Given the description of an element on the screen output the (x, y) to click on. 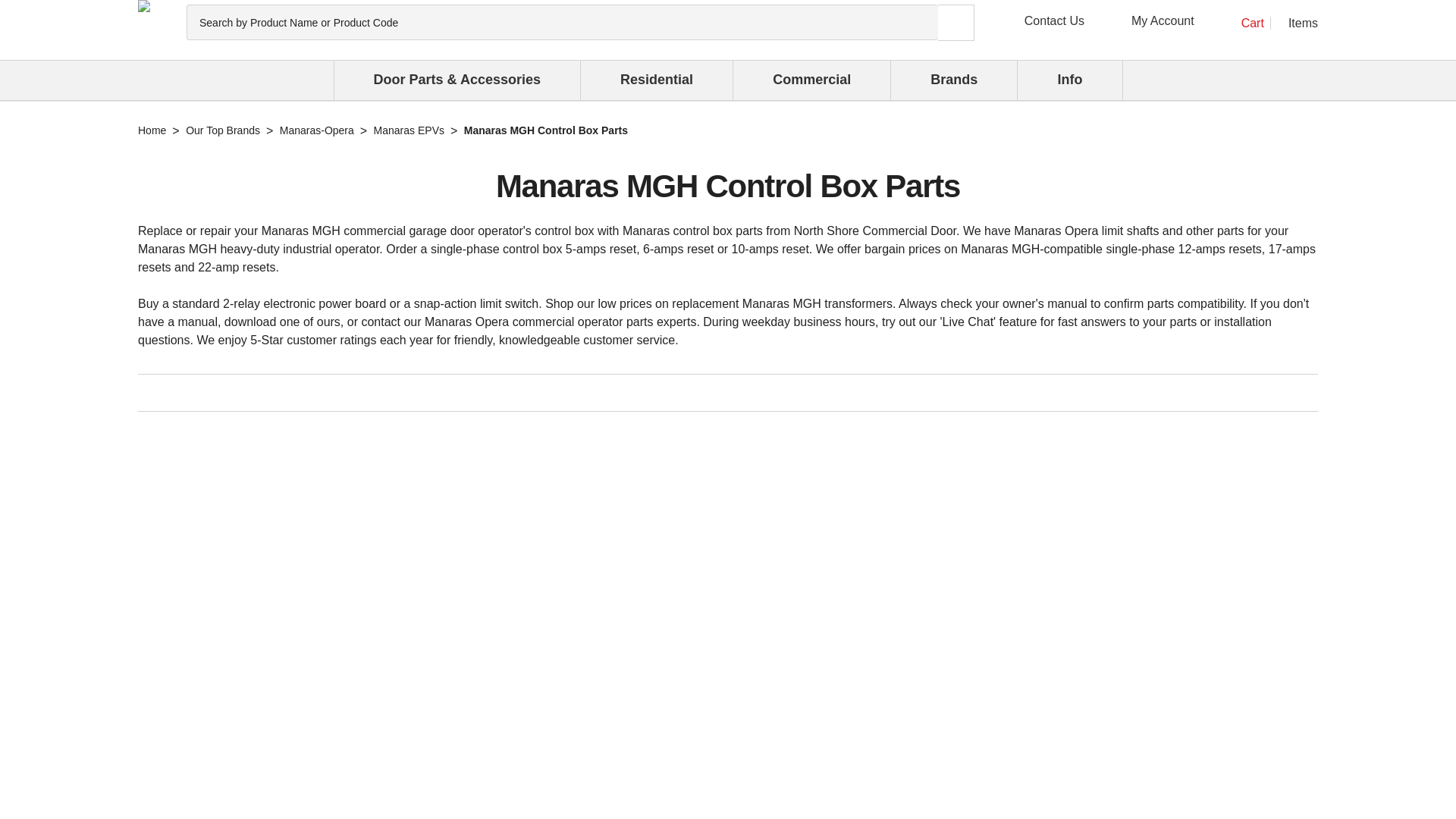
North Shore Commercial Door (143, 6)
Contact Us (1260, 22)
Skip to main content (1040, 21)
